Given the description of an element on the screen output the (x, y) to click on. 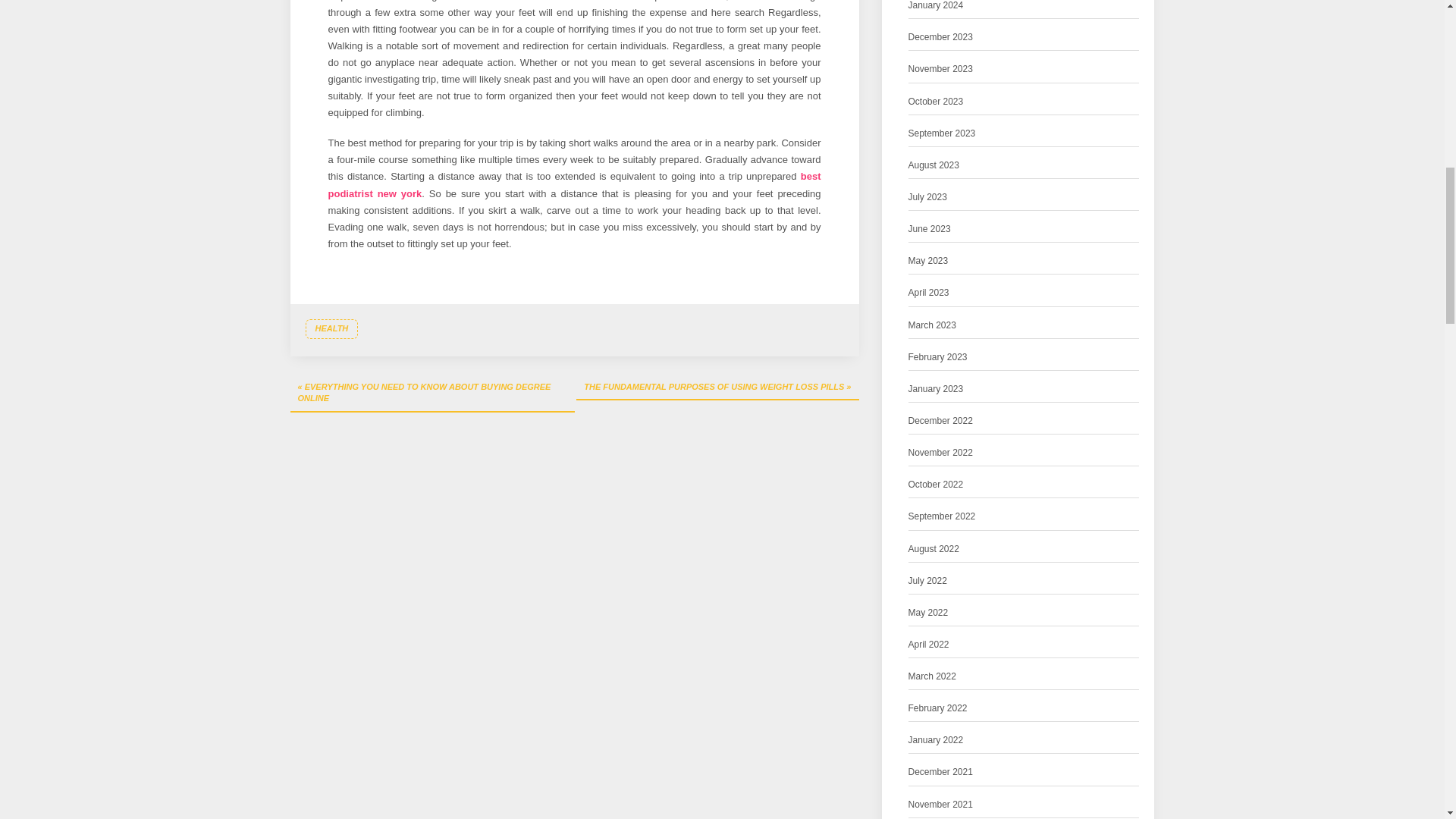
best podiatrist new york (574, 184)
April 2023 (928, 293)
December 2023 (940, 37)
July 2023 (927, 197)
February 2023 (938, 357)
September 2023 (941, 133)
November 2023 (940, 68)
January 2023 (935, 389)
THE FUNDAMENTAL PURPOSES OF USING WEIGHT LOSS PILLS (717, 388)
June 2023 (929, 229)
